Given the description of an element on the screen output the (x, y) to click on. 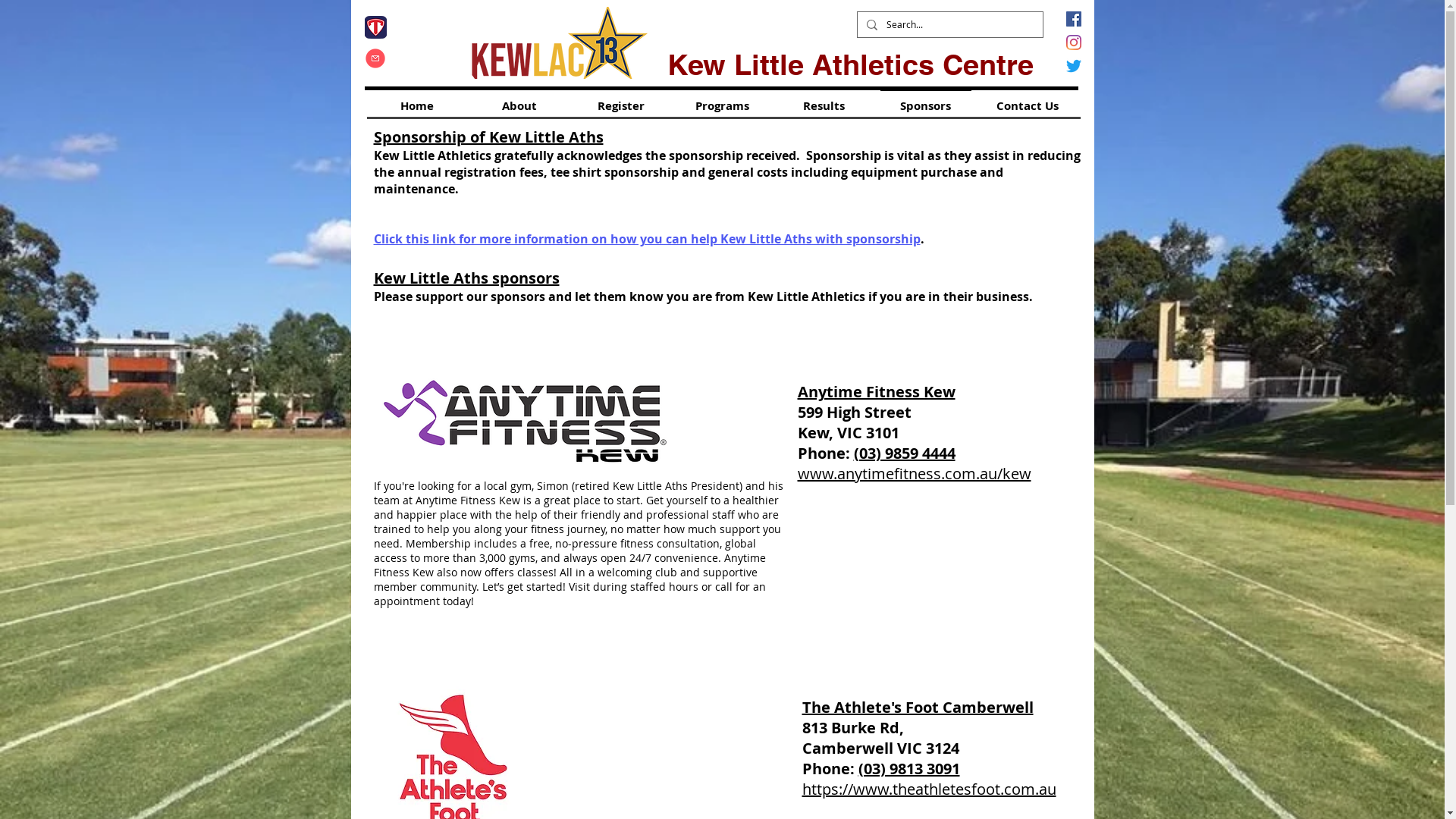
Register Element type: text (620, 98)
Kew Little Athletics Centre Element type: text (850, 66)
Sponsors Element type: text (925, 98)
https://www.theathletesfoot.com.au Element type: text (929, 788)
Contact Us Element type: text (1027, 98)
(03) 9813 3091 Element type: text (909, 768)
Anytime Fitness Kew Element type: text (876, 391)
About Element type: text (519, 98)
Home Element type: text (416, 98)
www.anytimefitness.com.au/kew Element type: text (914, 473)
(03) 9859 4444 Element type: text (904, 452)
Programs Element type: text (722, 98)
Results Element type: text (824, 98)
